Given the description of an element on the screen output the (x, y) to click on. 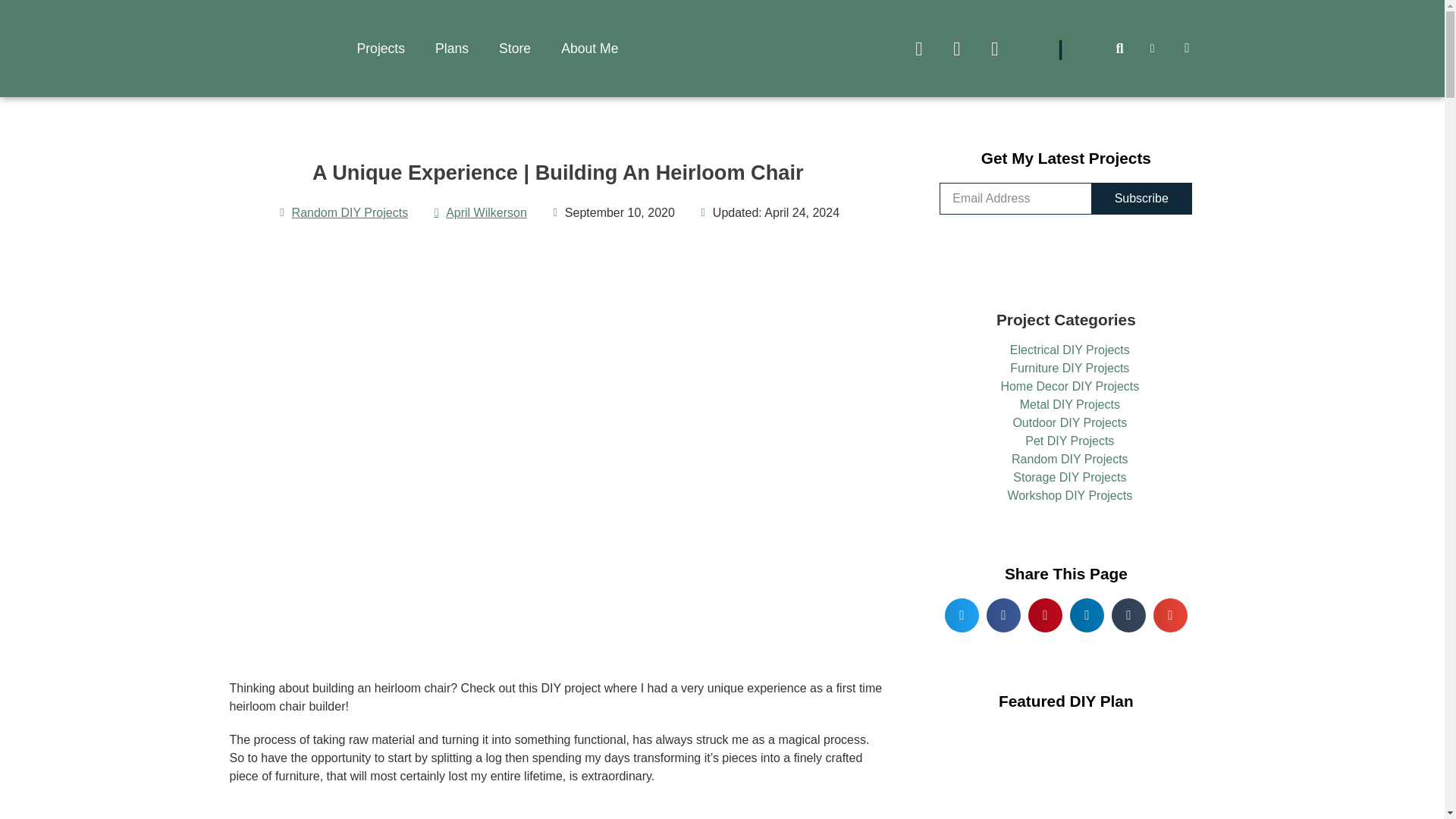
Projects (380, 48)
Store (514, 48)
About Me (589, 48)
Plans (451, 48)
